Given the description of an element on the screen output the (x, y) to click on. 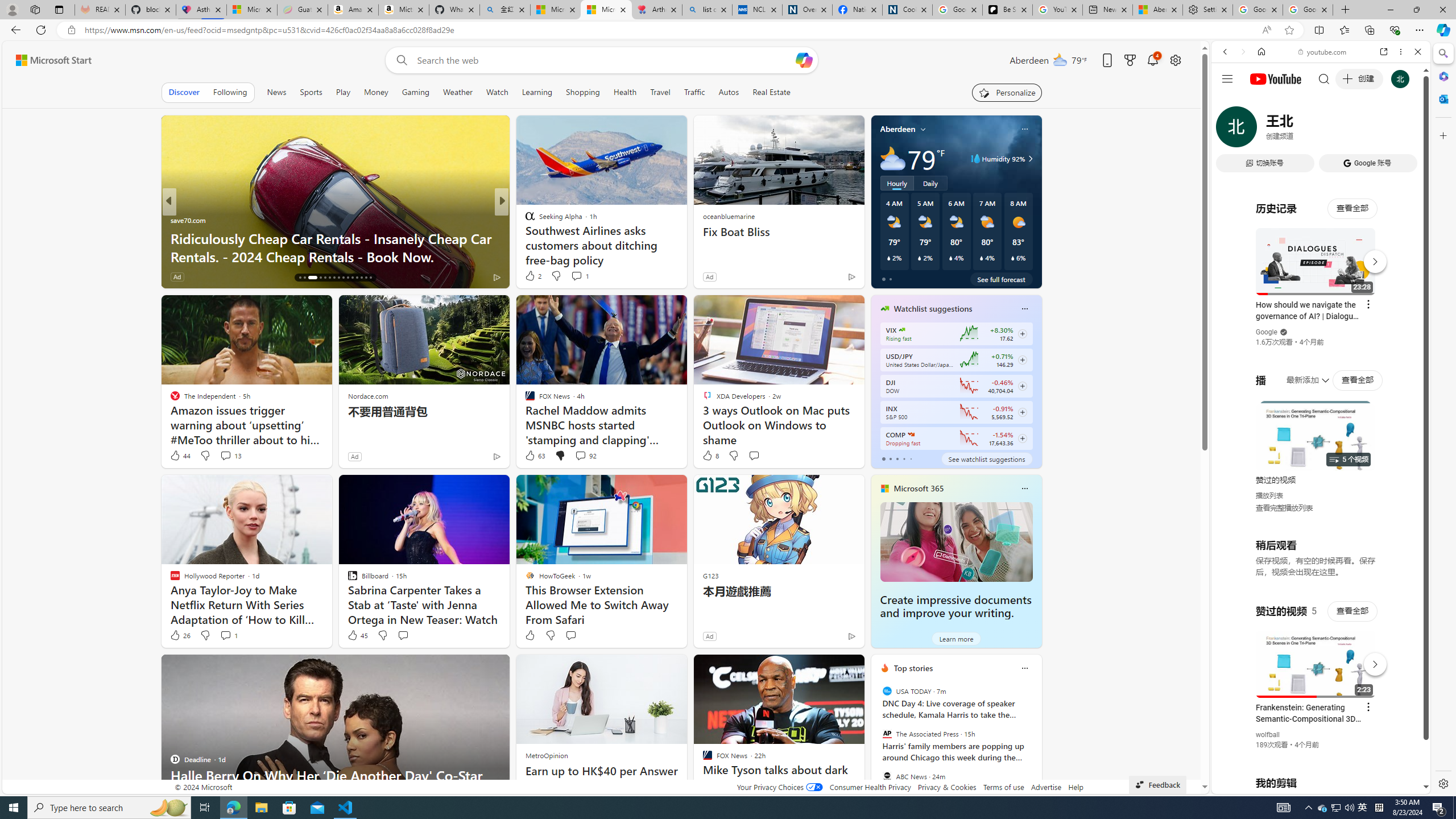
AutomationID: tab-25 (347, 277)
Search (1442, 53)
Microsoft-Report a Concern to Bing (251, 9)
Open link in new tab (1383, 51)
119 Like (532, 276)
Daily (929, 183)
Skip to content (49, 59)
Class: b_serphb (1404, 130)
Aberdeen (897, 128)
Feedback (1157, 784)
Web scope (1230, 102)
